Given the description of an element on the screen output the (x, y) to click on. 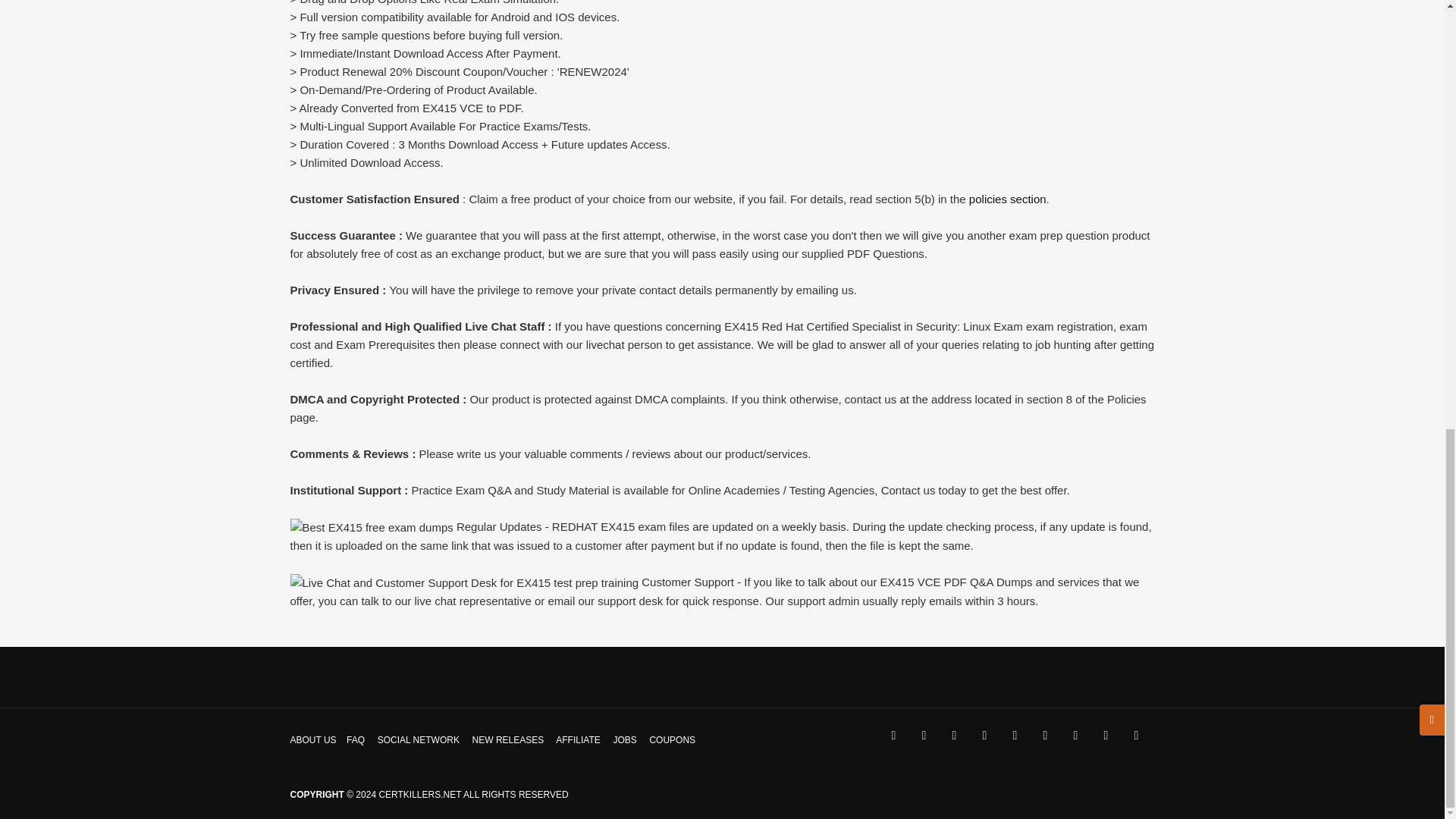
policies section (1007, 198)
ABOUT US (312, 739)
SOCIAL NETWORK (418, 739)
NEW RELEASES (507, 739)
COUPONS (672, 739)
FAQ (355, 739)
JOBS (624, 739)
AFFILIATE (577, 739)
